Given the description of an element on the screen output the (x, y) to click on. 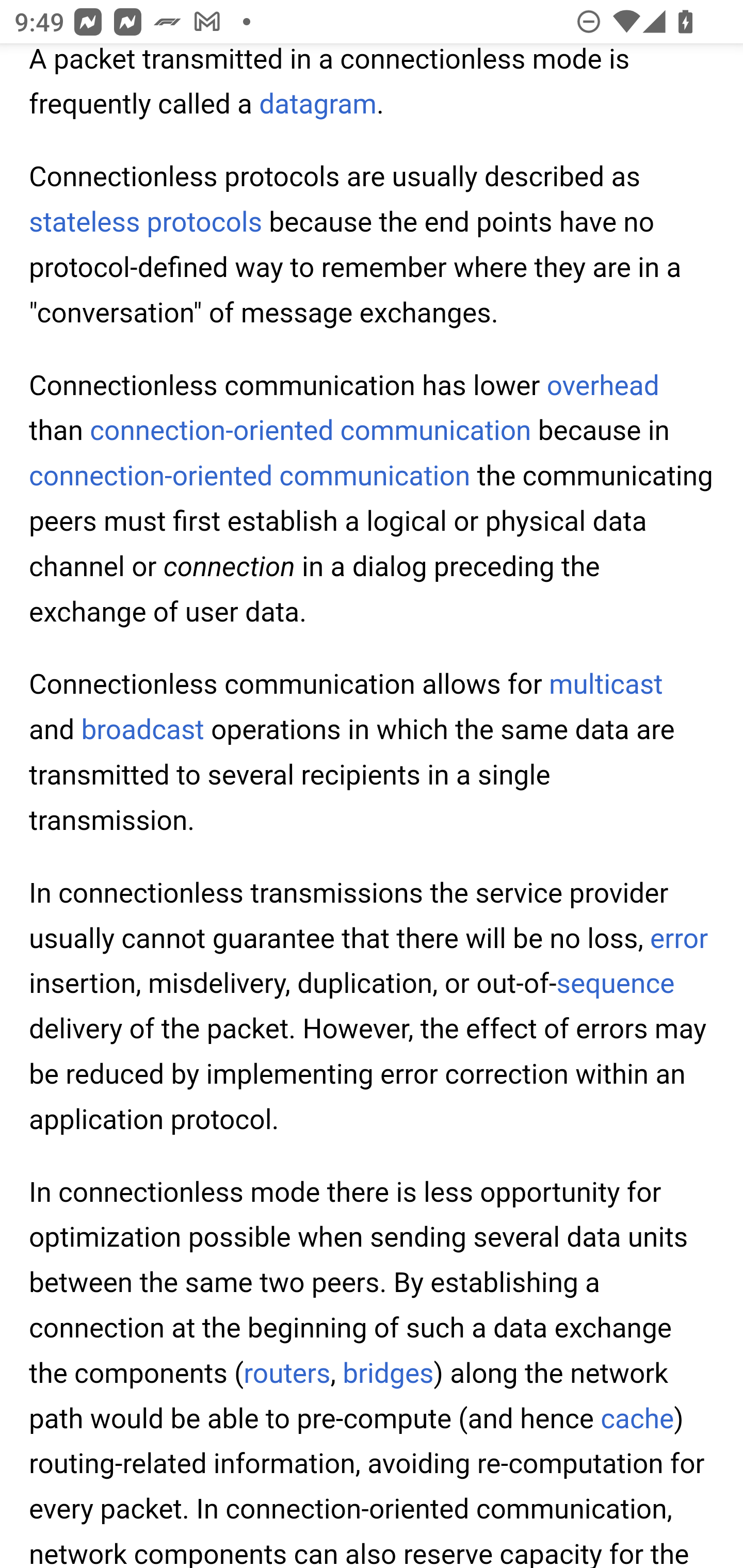
datagram (317, 104)
stateless protocols (145, 222)
overhead (603, 385)
connection-oriented communication (310, 430)
connection-oriented communication (249, 476)
multicast (605, 684)
broadcast (142, 730)
error (679, 937)
sequence (615, 984)
routers (287, 1372)
bridges (387, 1372)
cache (637, 1418)
